Given the description of an element on the screen output the (x, y) to click on. 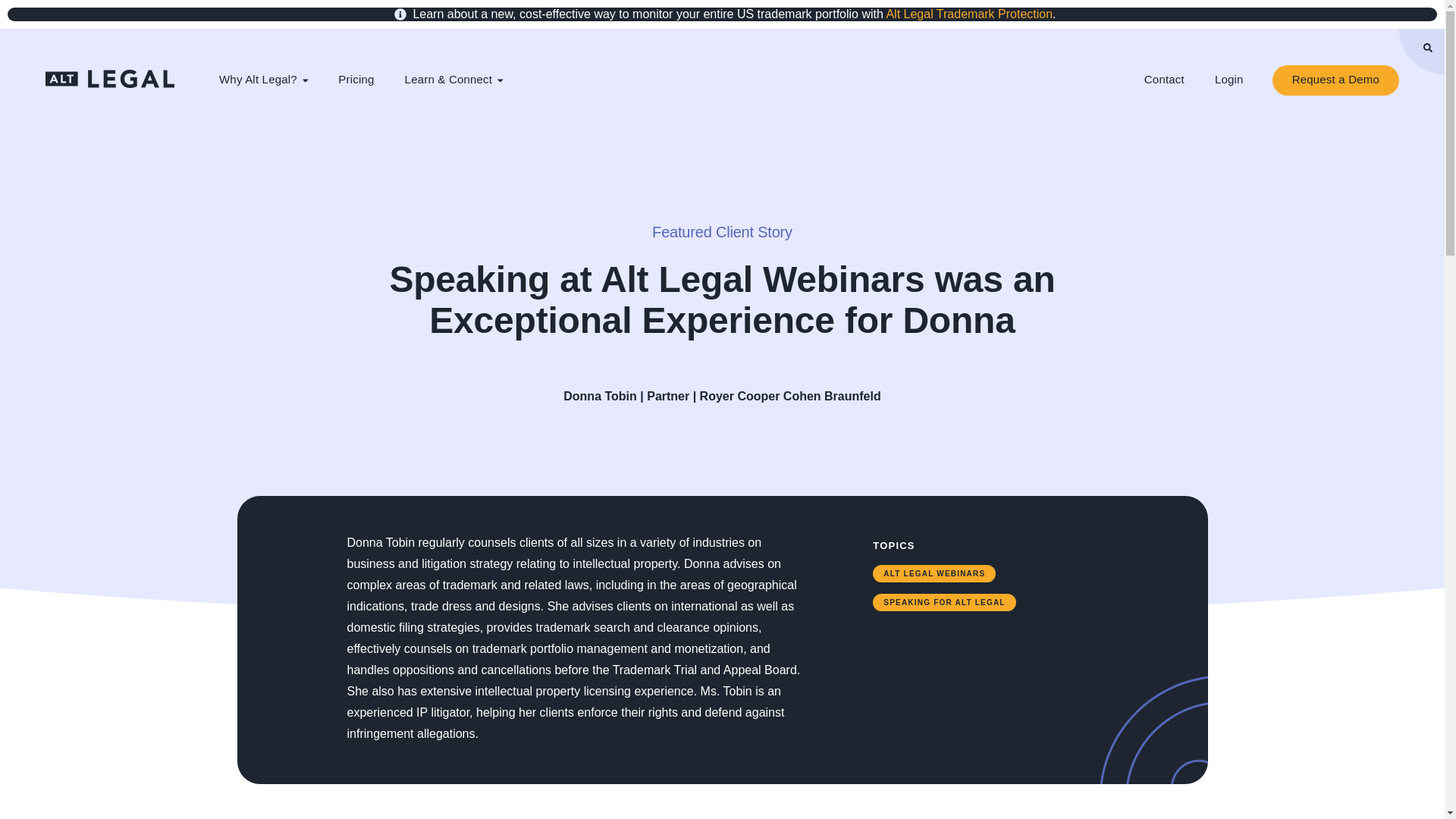
Contact (1164, 80)
Login (1229, 80)
Pricing (355, 80)
Why Alt Legal? (263, 80)
Alt Legal Trademark Protection (968, 13)
Request a Demo (1335, 80)
